Given the description of an element on the screen output the (x, y) to click on. 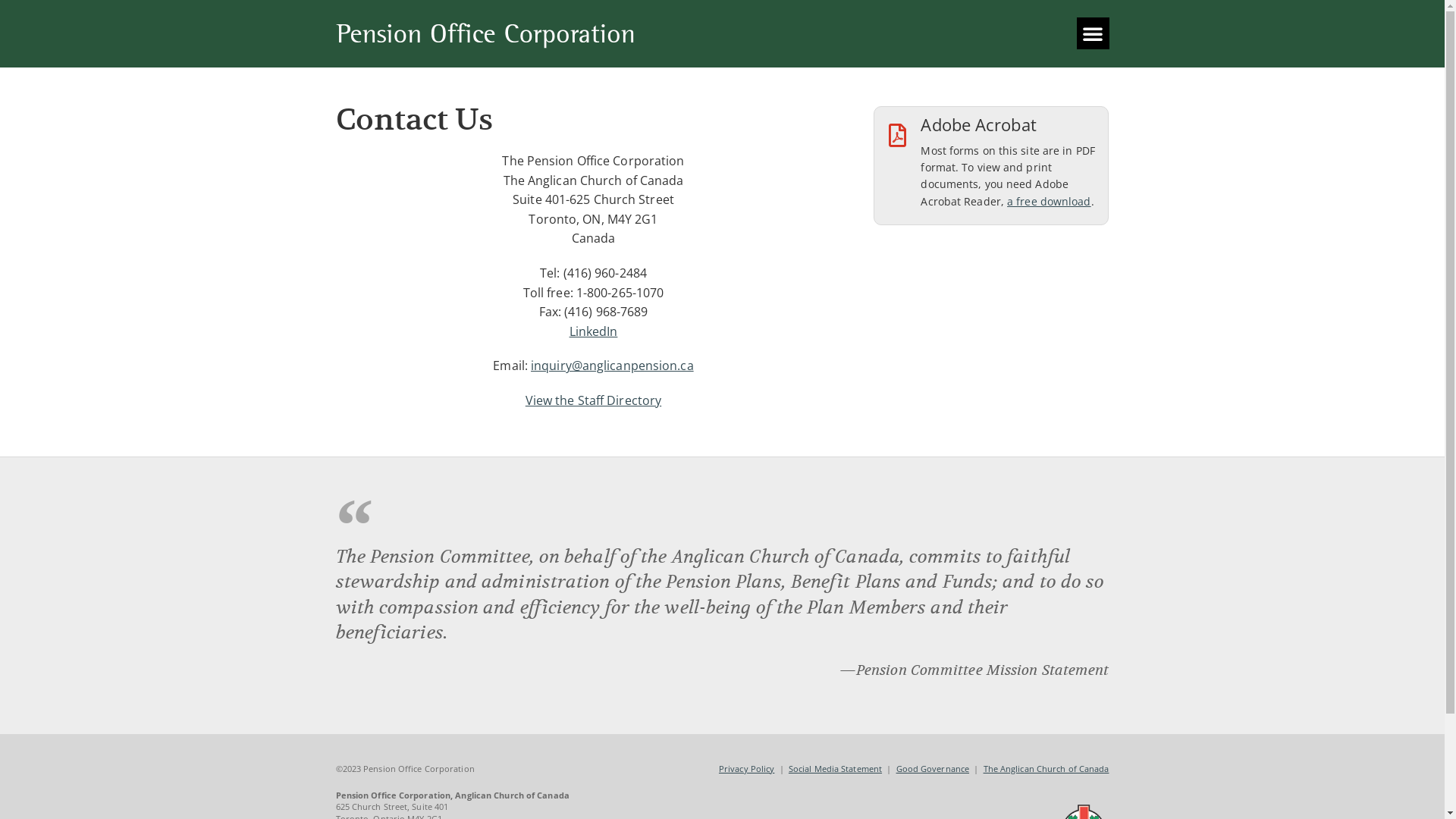
Social Media Statement Element type: text (834, 768)
LinkedIn Element type: text (593, 331)
inquiry@anglicanpension.ca Element type: text (611, 365)
Privacy Policy Element type: text (746, 768)
Good Governance Element type: text (932, 768)
Adobe Acrobat Element type: text (977, 123)
The Anglican Church of Canada Element type: text (1046, 768)
View the Staff Directory Element type: text (593, 400)
a free download Element type: text (1049, 201)
